Given the description of an element on the screen output the (x, y) to click on. 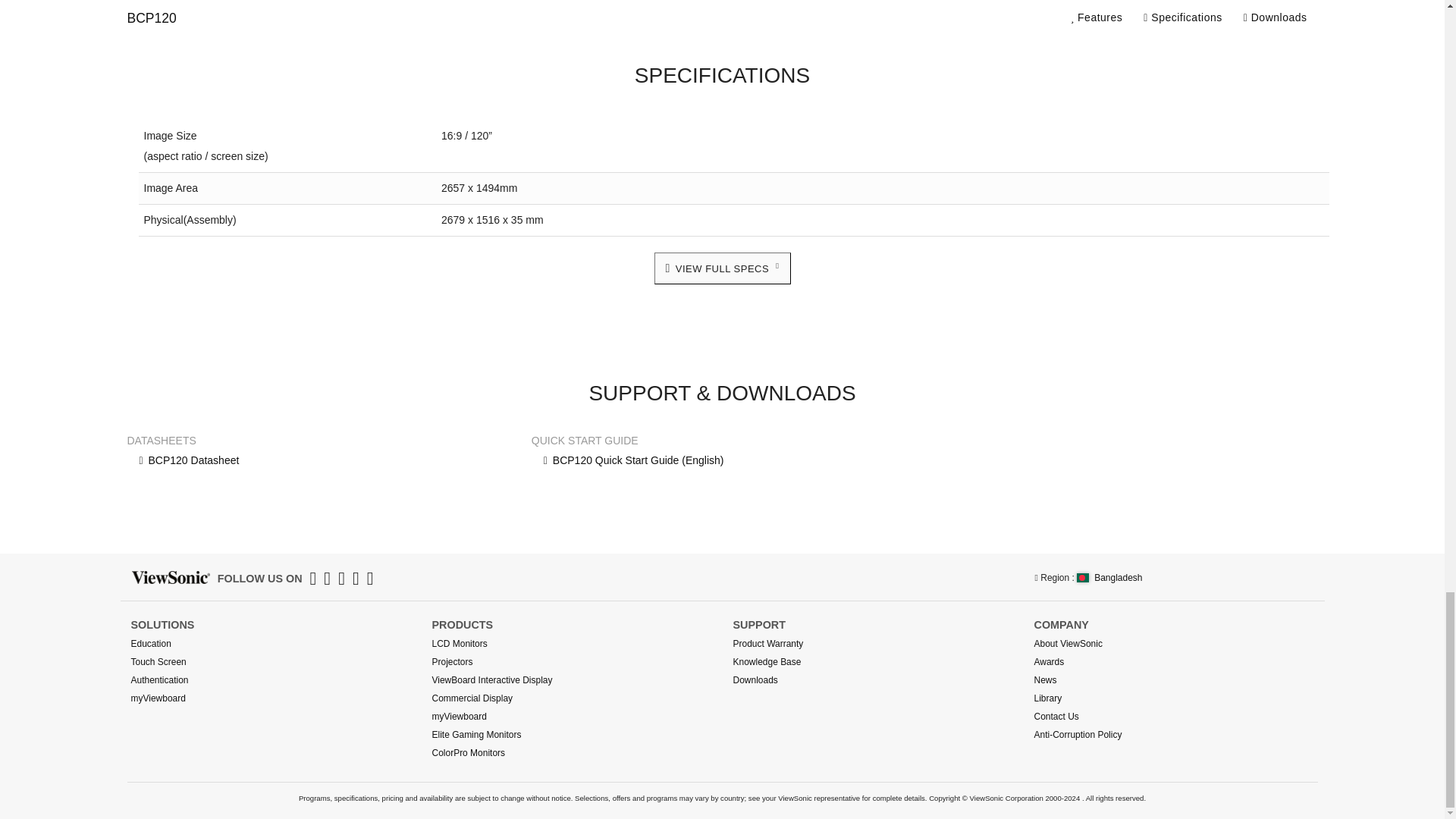
Bangladesh (1109, 577)
